Given the description of an element on the screen output the (x, y) to click on. 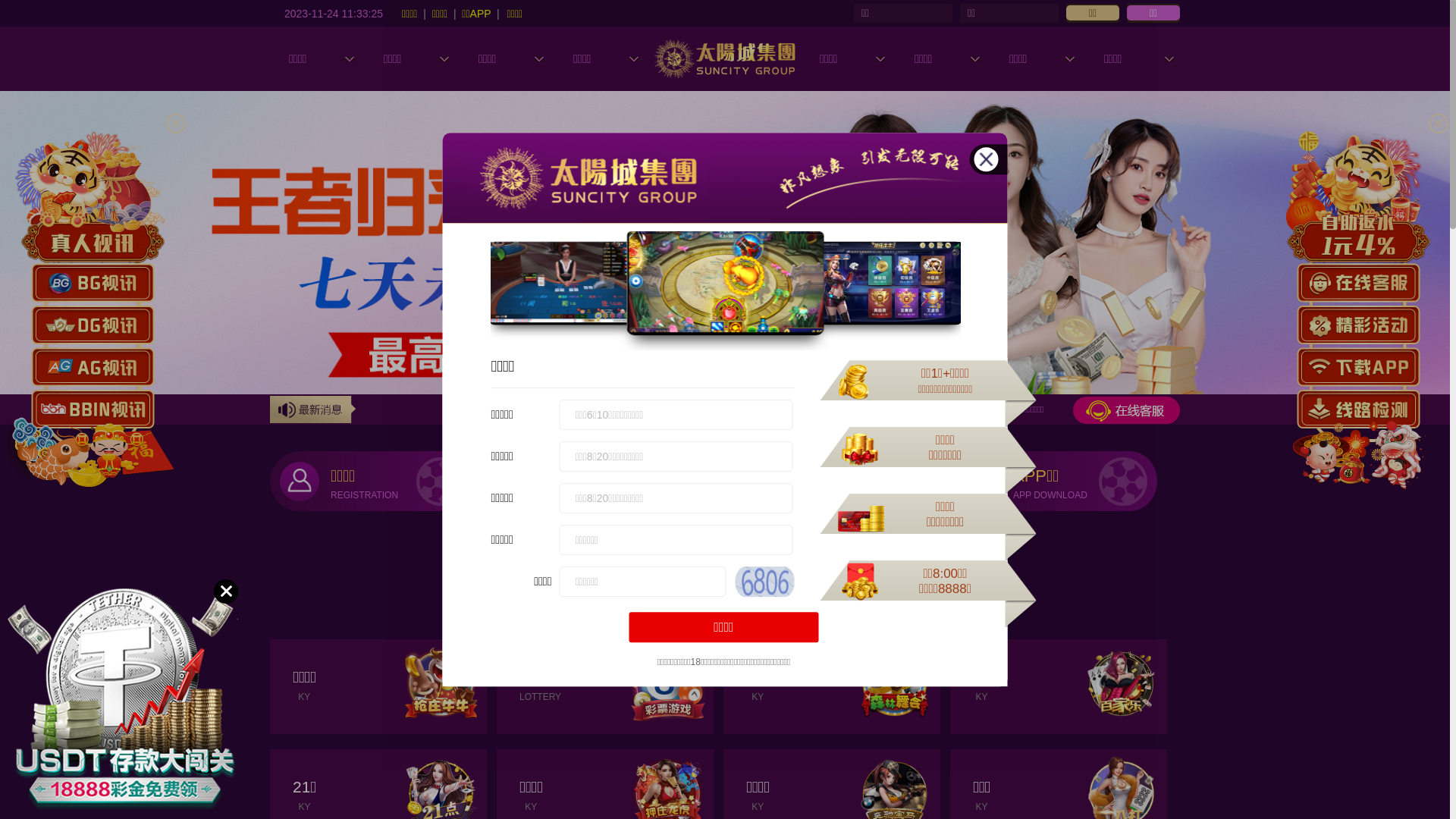
2023-11-24 11:33:23 Element type: text (333, 12)
